Given the description of an element on the screen output the (x, y) to click on. 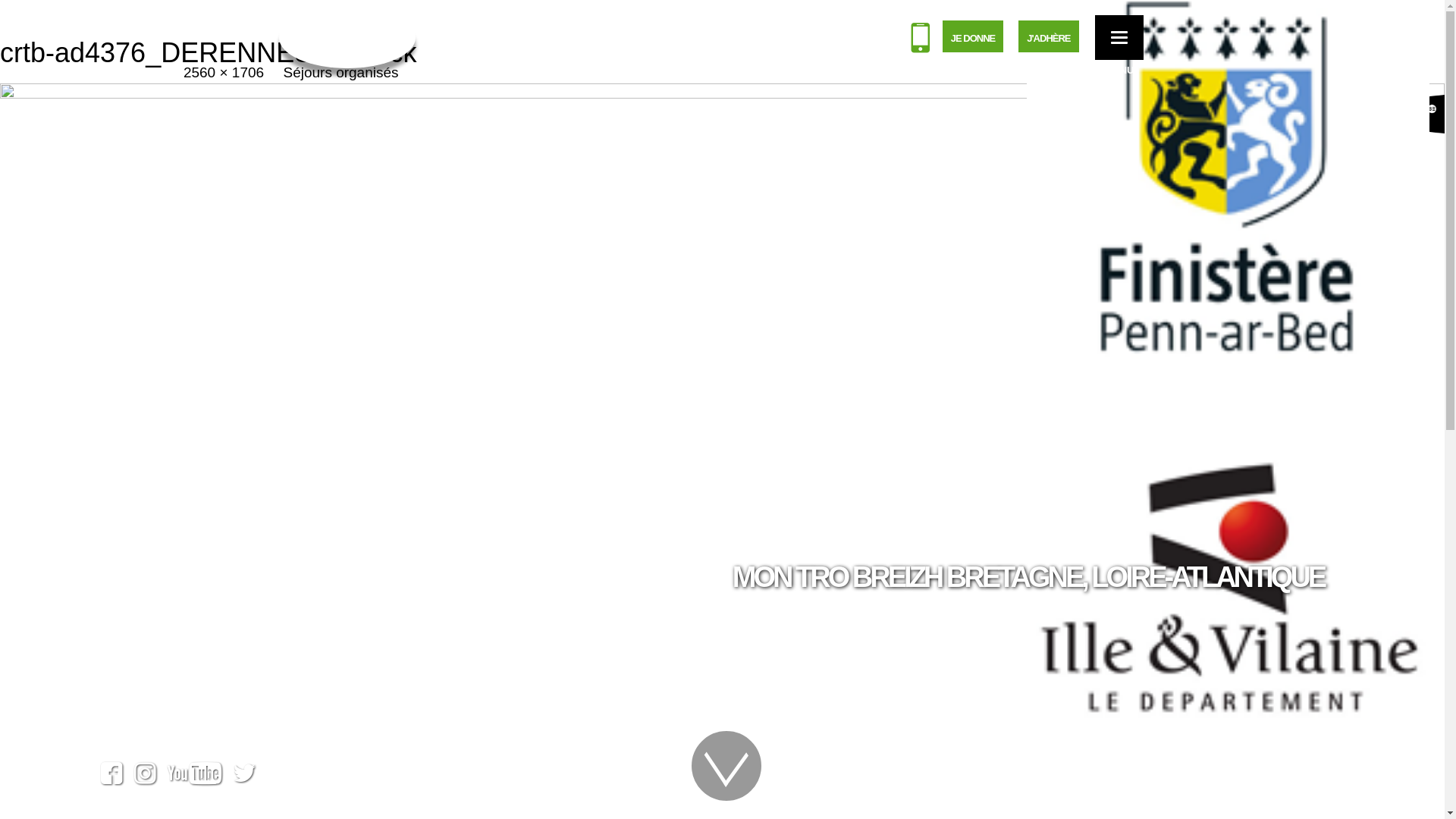
Mon Tro Breizh sur Youtube Element type: hover (194, 774)
Toggle navigation Element type: text (1119, 37)
Mon Tro Breizh sur Instagram Element type: hover (145, 774)
Contactez l'association Mon Tro Breizh Element type: hover (920, 40)
Mon Tro Breizh, votre tour de Bretagne Element type: hover (347, 37)
Mon Tro Breizh sur Twitter Element type: hover (244, 774)
crtb-ad4376_DERENNES-Yannick Element type: hover (722, 563)
Mon Tro Breizh sur Facebook Element type: hover (111, 774)
JE DONNE Element type: text (972, 36)
